Given the description of an element on the screen output the (x, y) to click on. 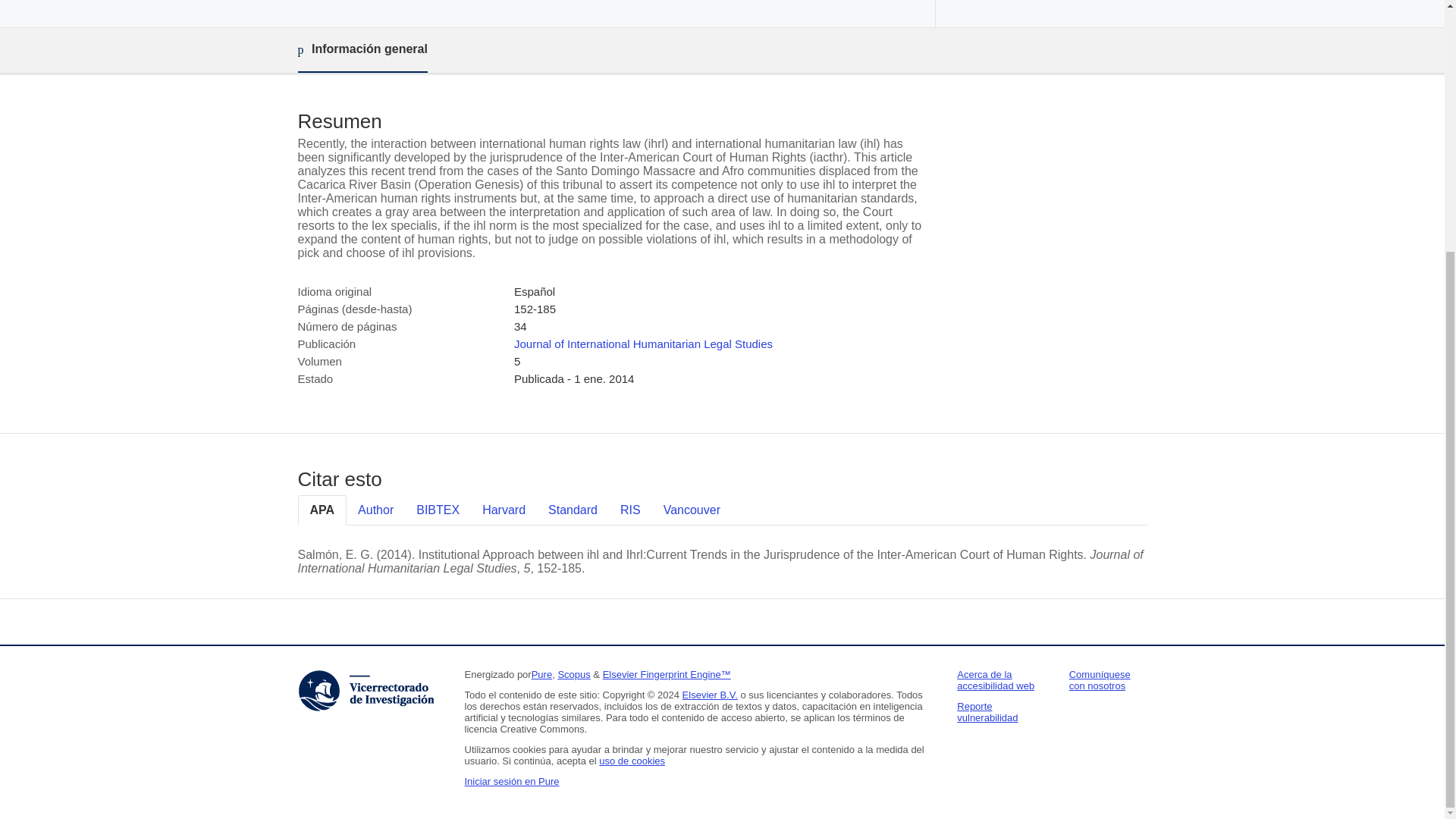
Scopus (573, 674)
Pure (541, 674)
Elsevier B.V. (710, 695)
Journal of International Humanitarian Legal Studies (643, 343)
Acerca de la accesibilidad web (994, 680)
Reporte vulnerabilidad (986, 712)
uso de cookies (631, 760)
